Given the description of an element on the screen output the (x, y) to click on. 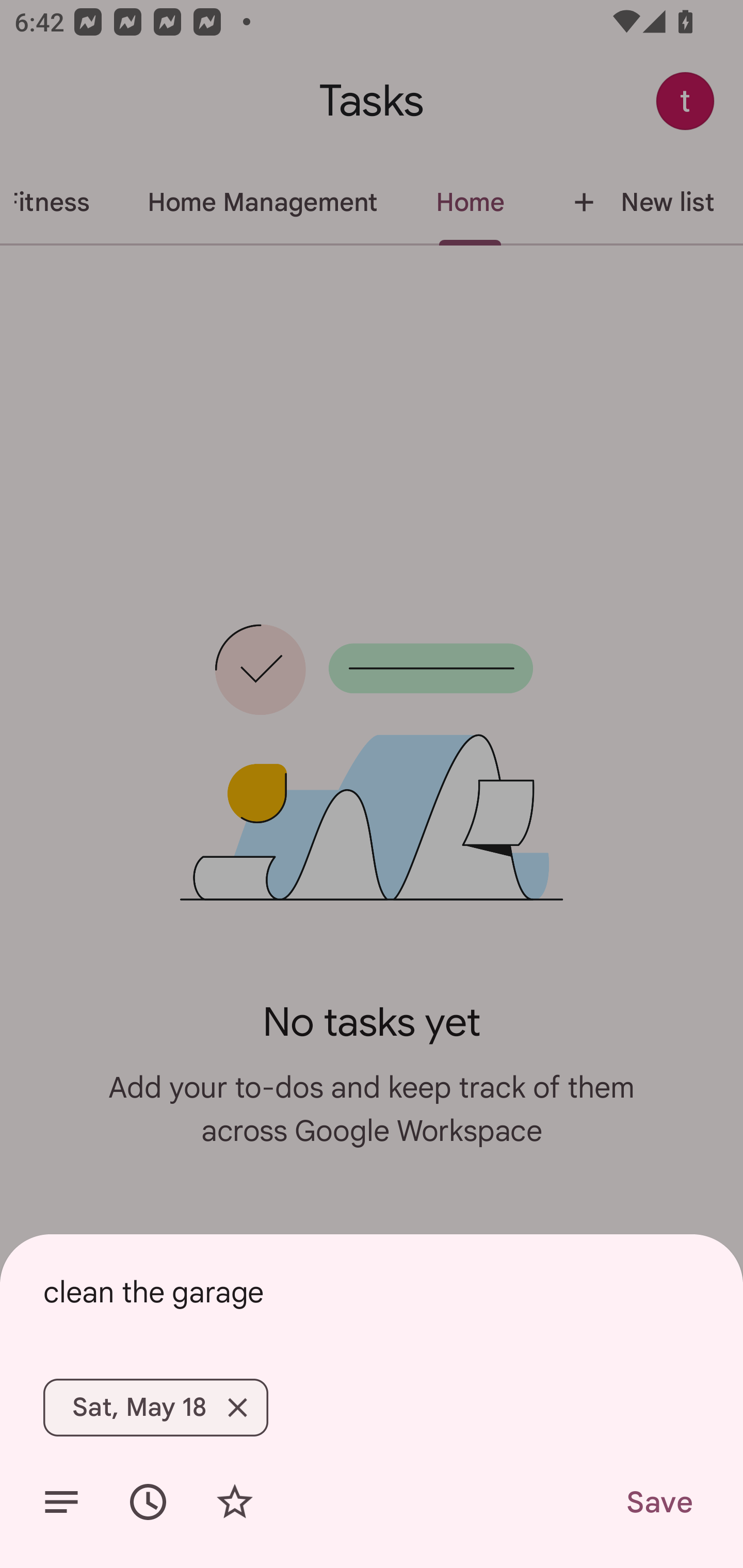
clean the garage (371, 1291)
Sat, May 18 Remove Sat, May 18 (155, 1407)
Save (659, 1501)
Add details (60, 1501)
Set date/time (147, 1501)
Add star (234, 1501)
